Given the description of an element on the screen output the (x, y) to click on. 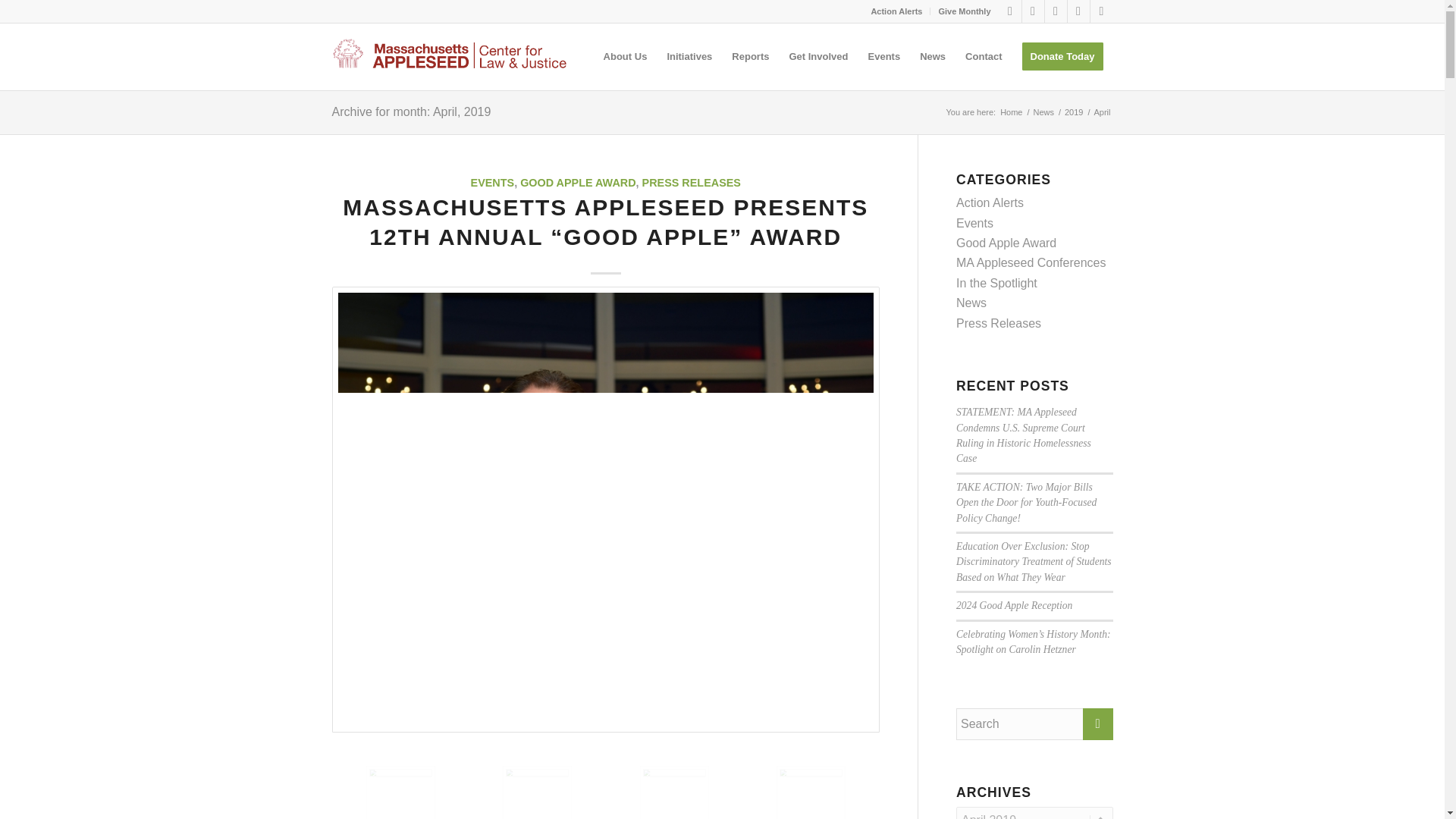
Give Monthly (963, 11)
Photo 2 (571, 792)
Get Involved (817, 56)
News (1043, 112)
Photo 1 (434, 792)
News (1043, 112)
Action Alerts (895, 11)
About Us (626, 56)
Instagram (1056, 11)
